Given the description of an element on the screen output the (x, y) to click on. 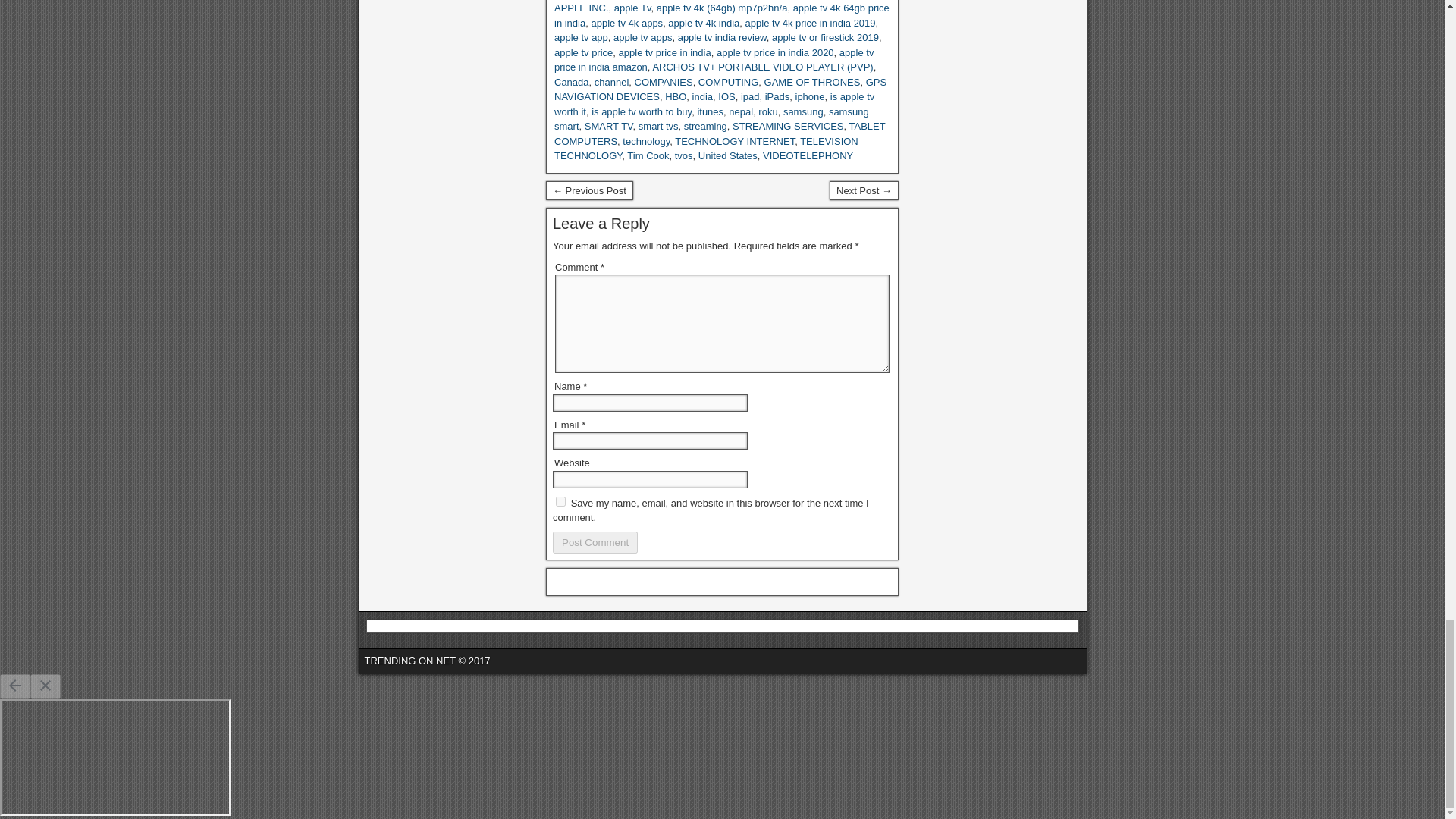
Post Comment (595, 542)
yes (561, 501)
APPLE INC. (581, 7)
